Given the description of an element on the screen output the (x, y) to click on. 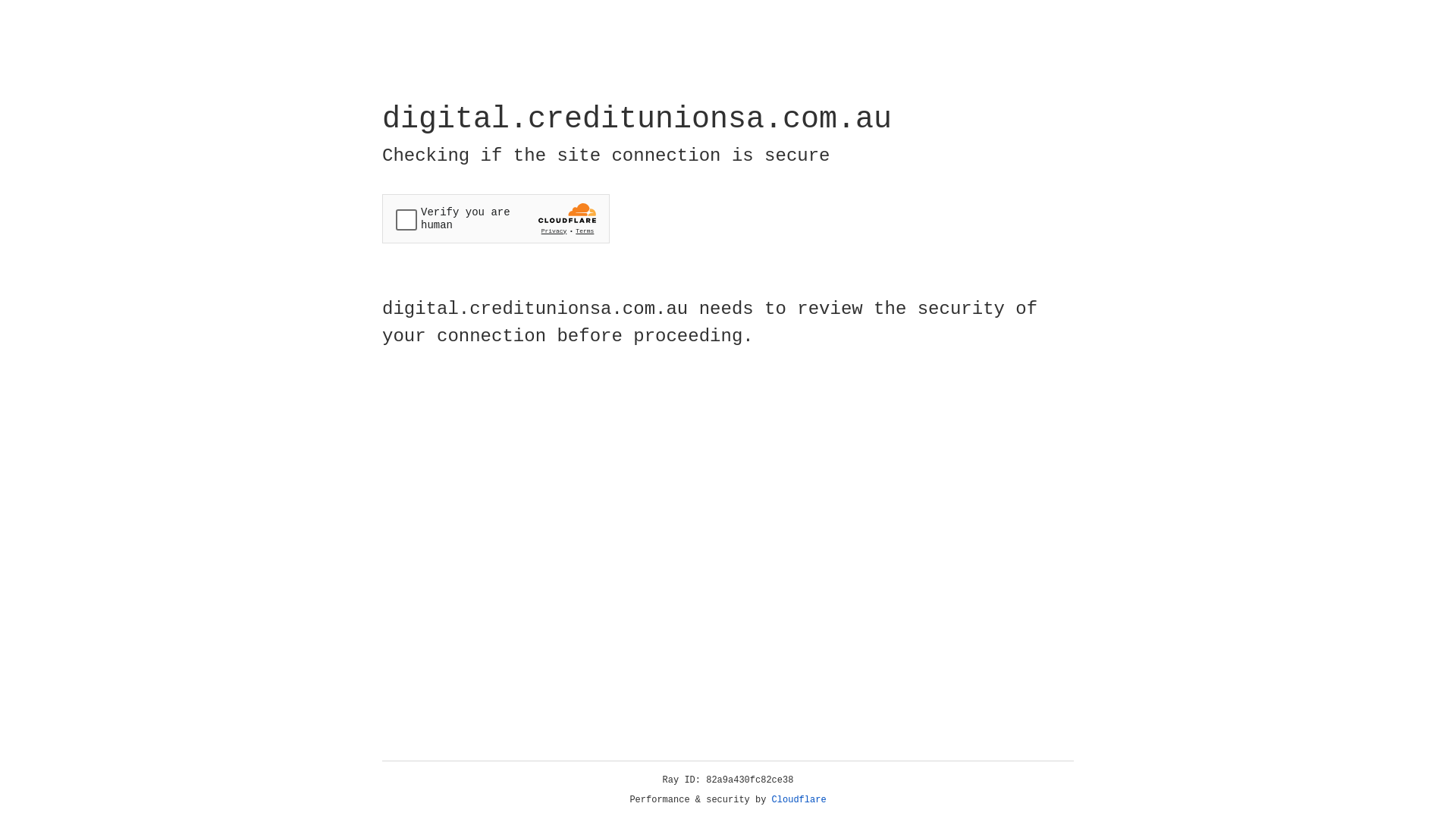
Cloudflare Element type: text (798, 799)
Widget containing a Cloudflare security challenge Element type: hover (495, 218)
